Given the description of an element on the screen output the (x, y) to click on. 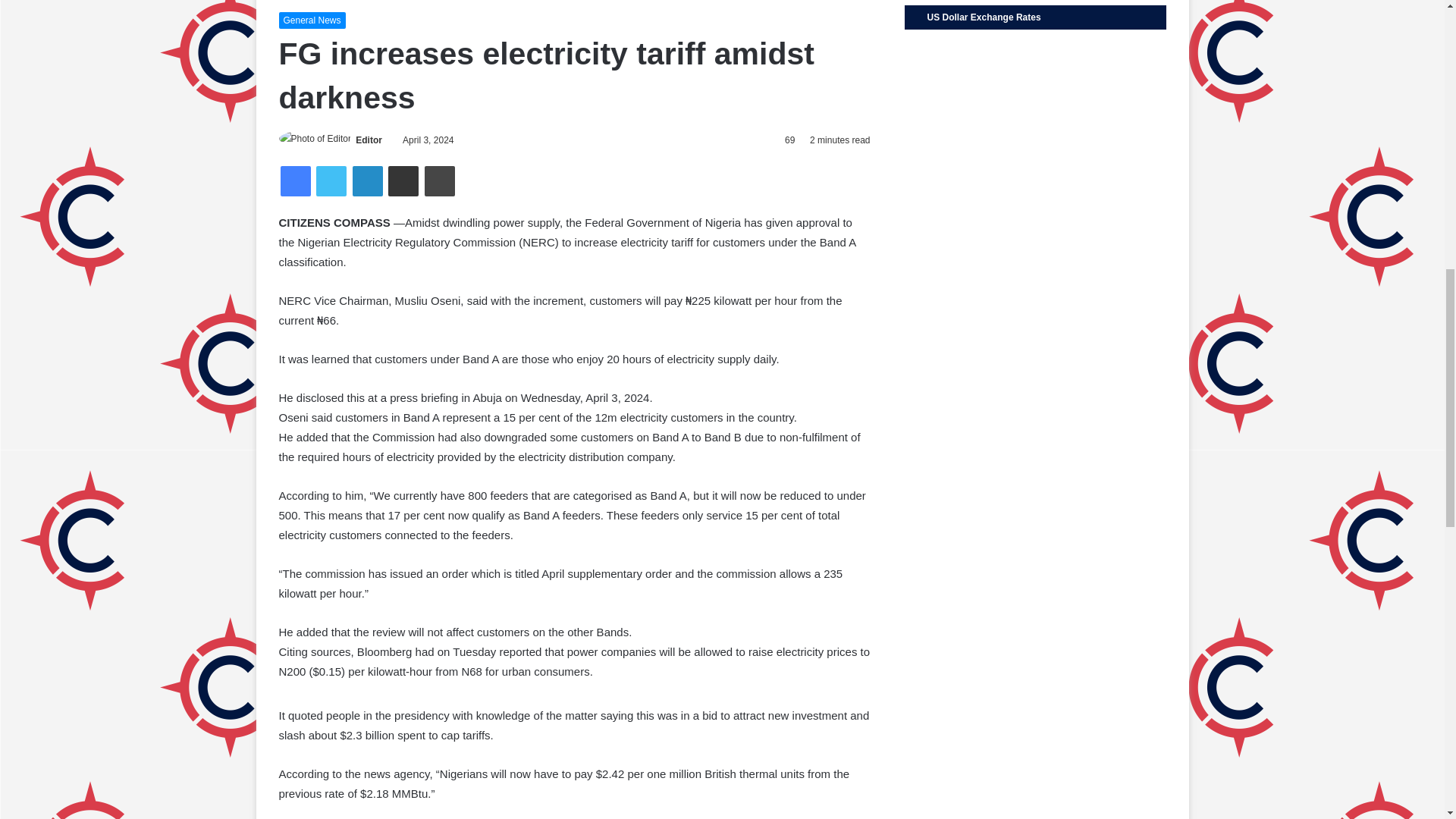
Print (439, 181)
Facebook (296, 181)
Facebook (296, 181)
LinkedIn (367, 181)
Print (439, 181)
Editor (368, 140)
General News (312, 20)
Twitter (330, 181)
Twitter (330, 181)
LinkedIn (367, 181)
